Given the description of an element on the screen output the (x, y) to click on. 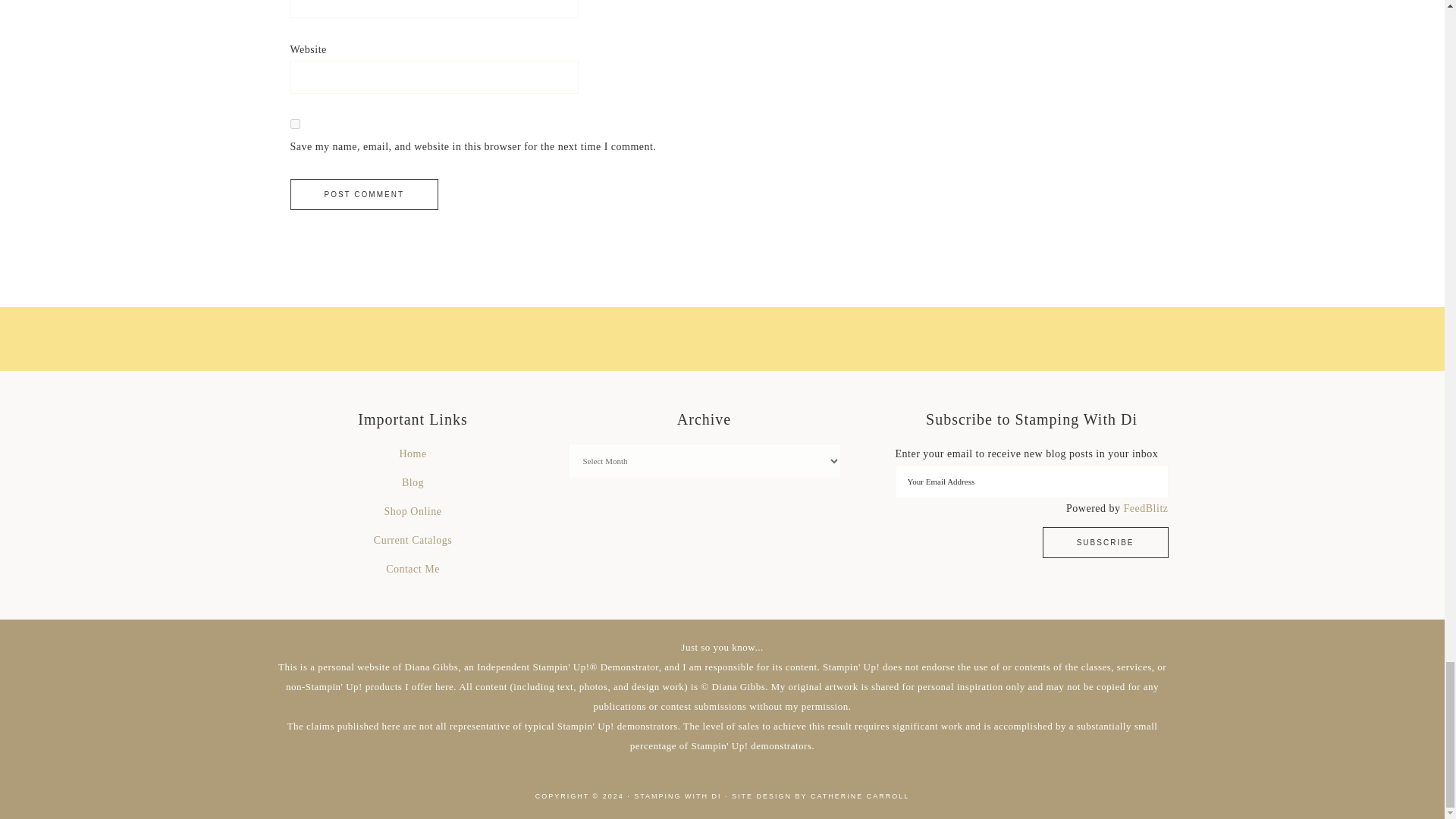
Post Comment (363, 194)
yes (294, 123)
Subscribe (1105, 542)
